Given the description of an element on the screen output the (x, y) to click on. 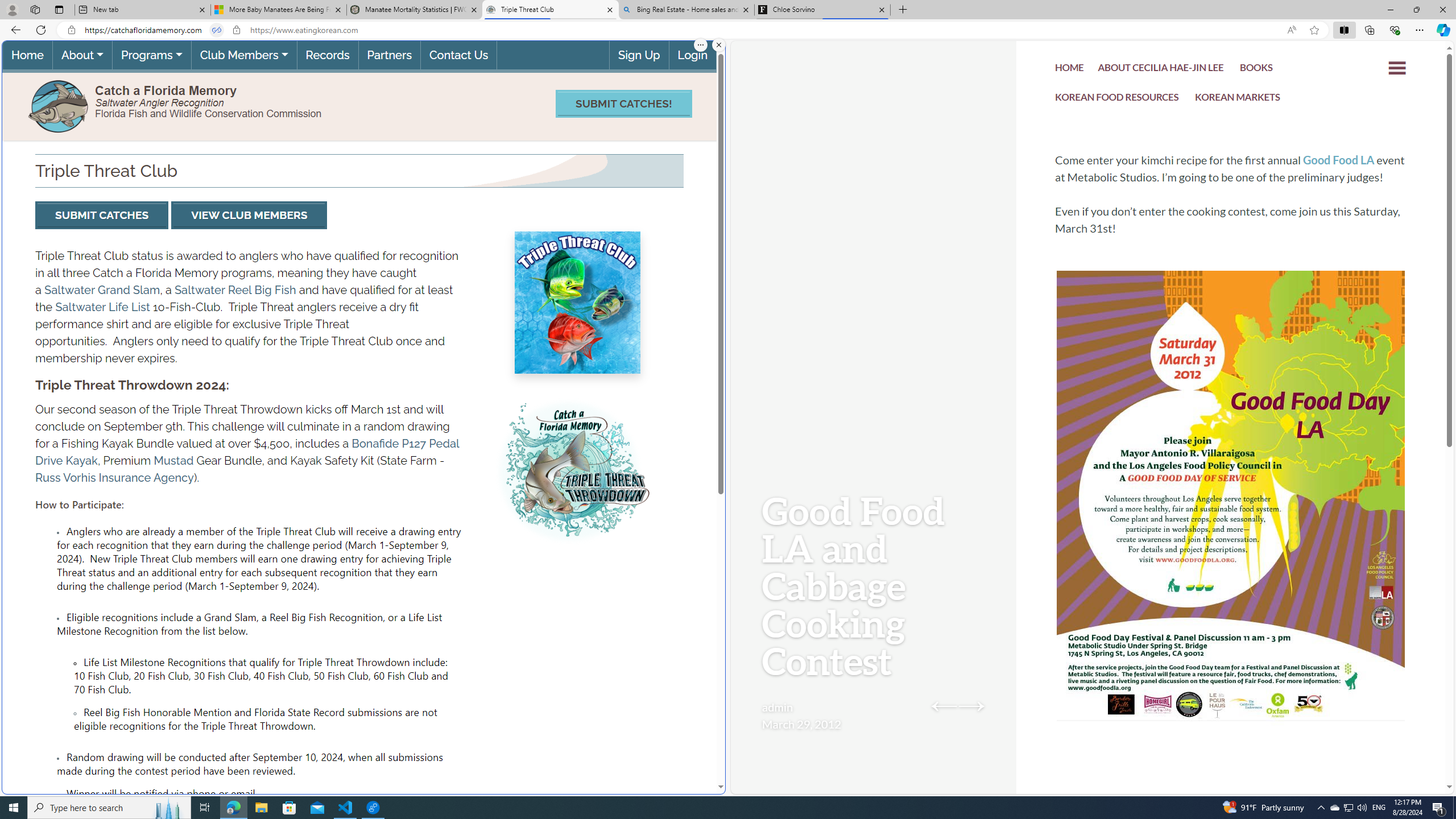
Minimize (1390, 9)
Russ Vorhis Insurance Agency (113, 477)
KOREAN MARKETS (1237, 98)
SUBMIT CATCHES (101, 215)
Partners (389, 54)
Triple Threat Club image (565, 471)
Records (327, 54)
SUBMIT CATCHES! (622, 103)
Contact Us (458, 54)
Read aloud this page (Ctrl+Shift+U) (1291, 29)
Saltwater Grand Slam (101, 289)
Restore (1416, 9)
